Given the description of an element on the screen output the (x, y) to click on. 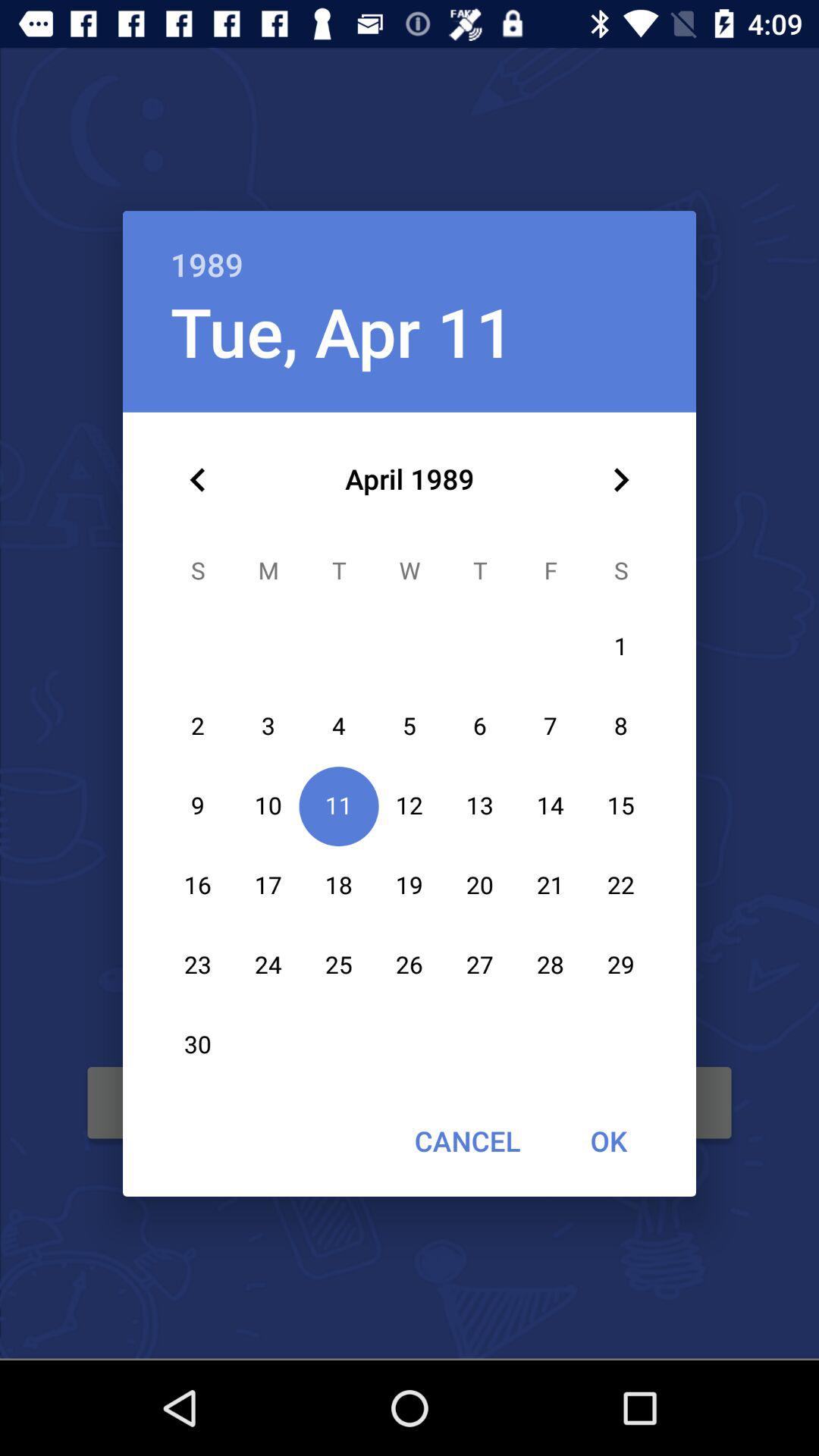
press 1989 (409, 248)
